Given the description of an element on the screen output the (x, y) to click on. 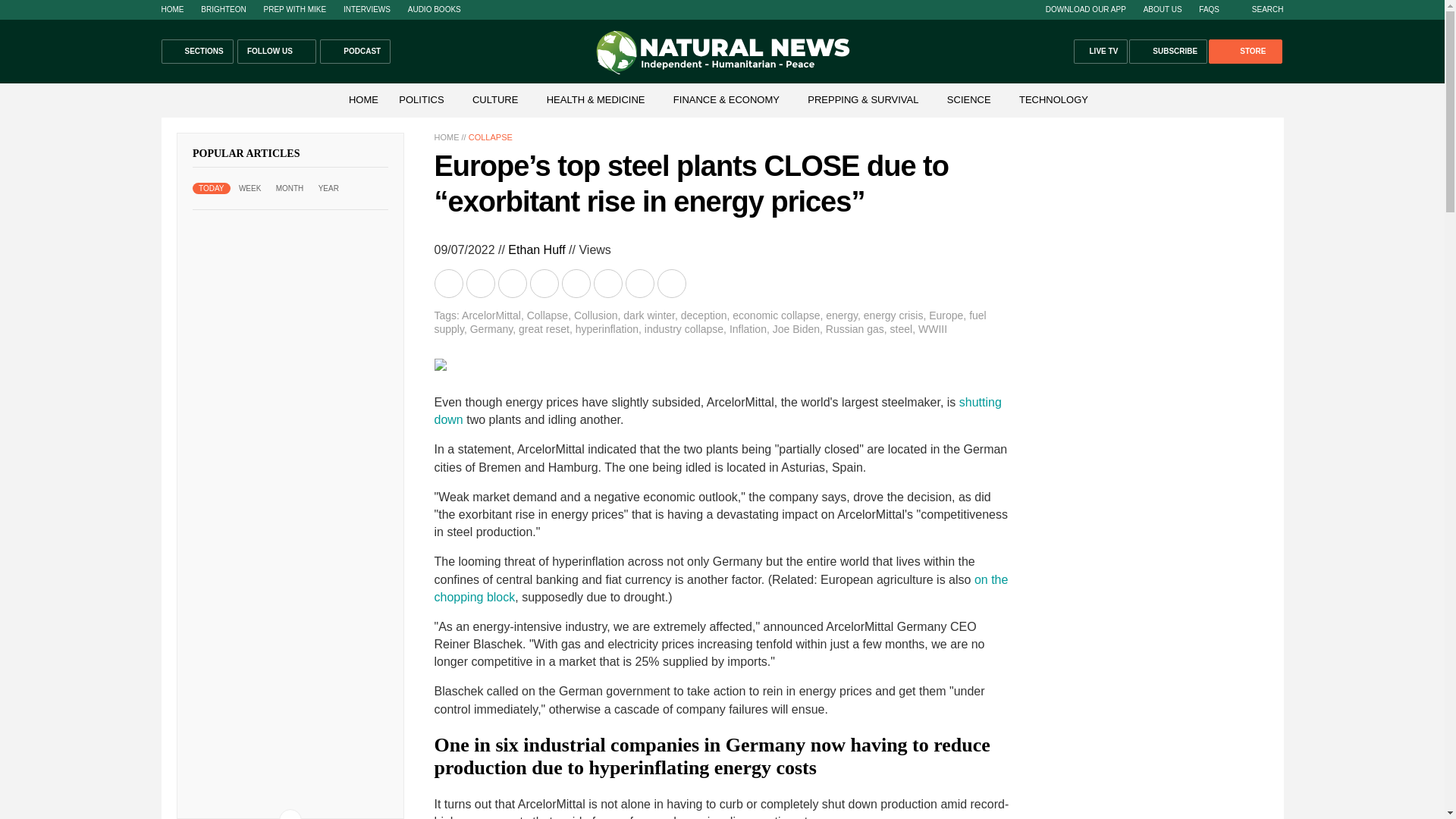
AUDIO BOOKS (434, 8)
INTERVIEWS (366, 8)
Share on Brighteon.Social (449, 283)
Share on Twitter (513, 283)
HOME (445, 136)
TECHNOLOGY (1053, 99)
ABOUT US (1162, 8)
BRIGHTEON (223, 8)
Share on Telegram (544, 283)
SUBSCRIBE (1168, 51)
Scroll Down (290, 814)
HOME (171, 8)
COLLAPSE (490, 136)
FAQS (1209, 8)
PODCAST (355, 51)
